Given the description of an element on the screen output the (x, y) to click on. 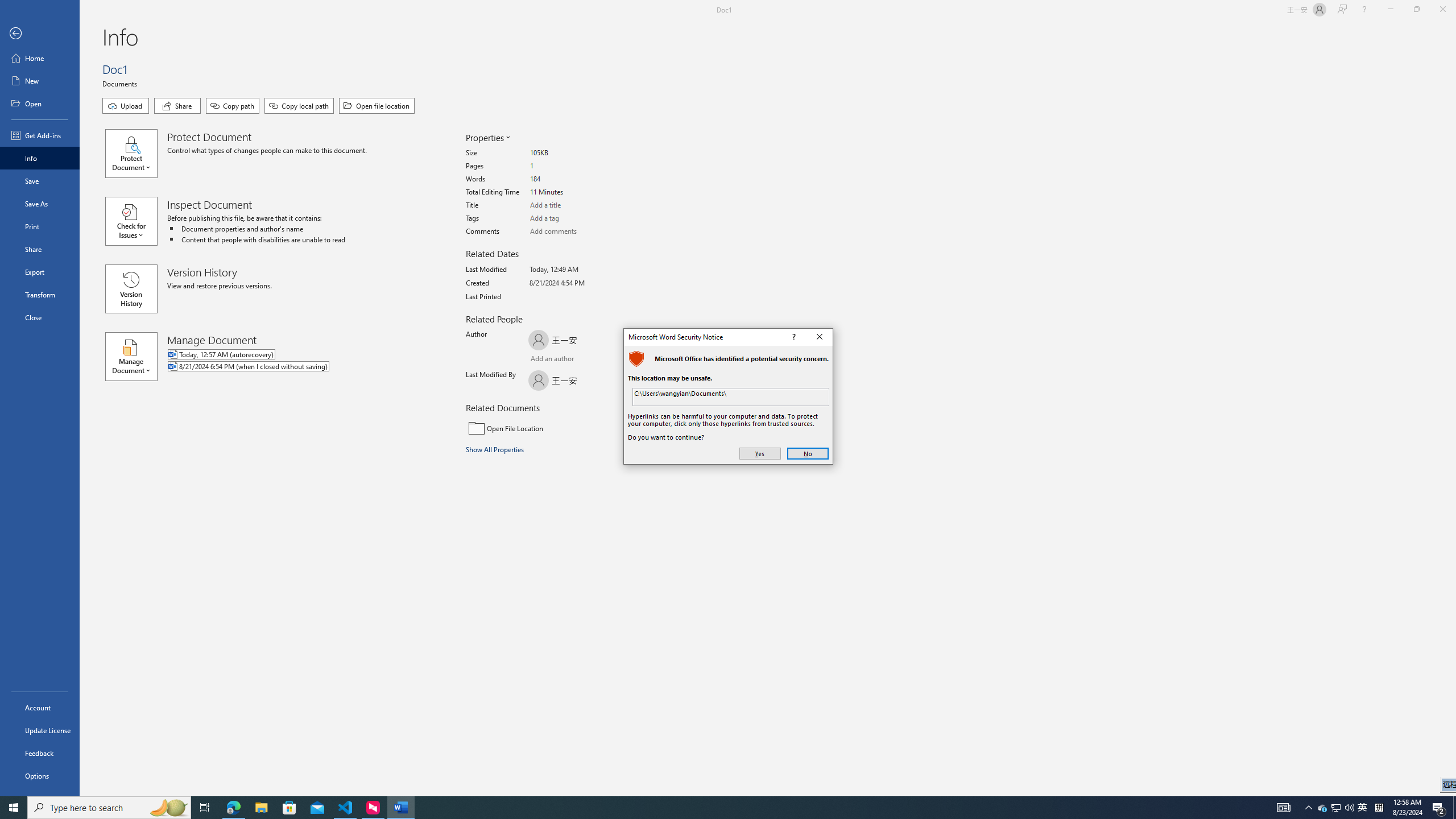
 Today, 12:57 AM (autorecovery) (295, 354)
Comments (572, 231)
Running applications (700, 807)
AutomationID: 4105 (1283, 807)
Home (40, 57)
Context help (793, 336)
Title (572, 205)
Export (40, 271)
Print (1335, 807)
Open file location (40, 225)
